Given the description of an element on the screen output the (x, y) to click on. 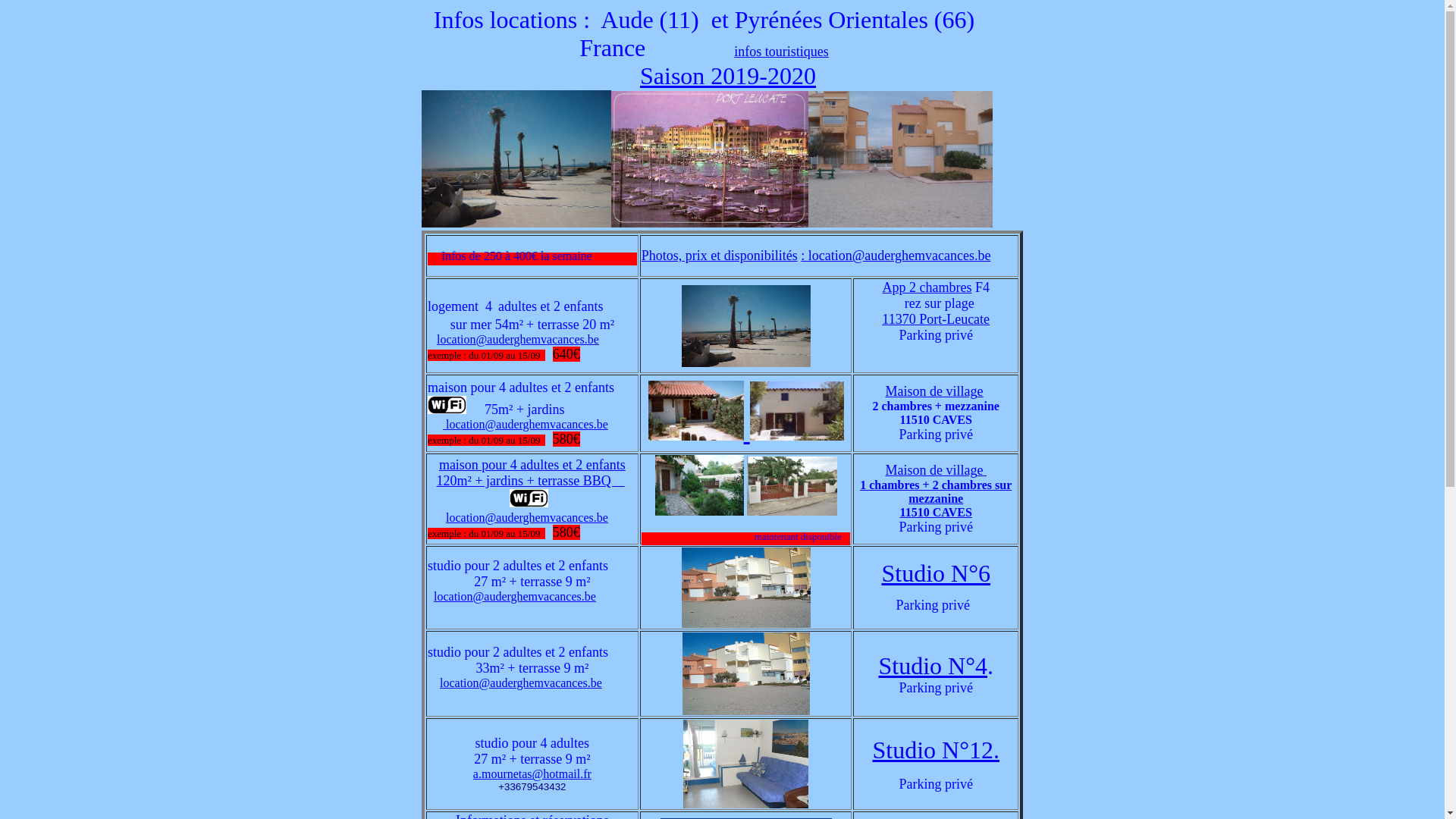
App 2 chambres Element type: text (926, 286)
location@auderghemvacances.be Element type: text (514, 595)
infos touristiques Element type: text (781, 51)
location@auderghemvacances.be Element type: text (526, 517)
: location@auderghemvacances.be Element type: text (895, 255)
location@auderghemvacances.be Element type: text (526, 423)
a.mournetas@hotmail.fr Element type: text (532, 773)
location@auderghemvacances.be Element type: text (520, 682)
11370 Port-Leucate Element type: text (935, 318)
Maison de village  Element type: text (934, 469)
11510 CAVES Element type: text (936, 511)
1 chambres + 2 chambres sur mezzanine Element type: text (935, 491)
maintenant disponible Element type: text (745, 538)
location@auderghemvacances.be Element type: text (517, 338)
maison pour 4 adultes et 2 enfants Element type: text (532, 464)
Maison de village Element type: text (933, 390)
